Given the description of an element on the screen output the (x, y) to click on. 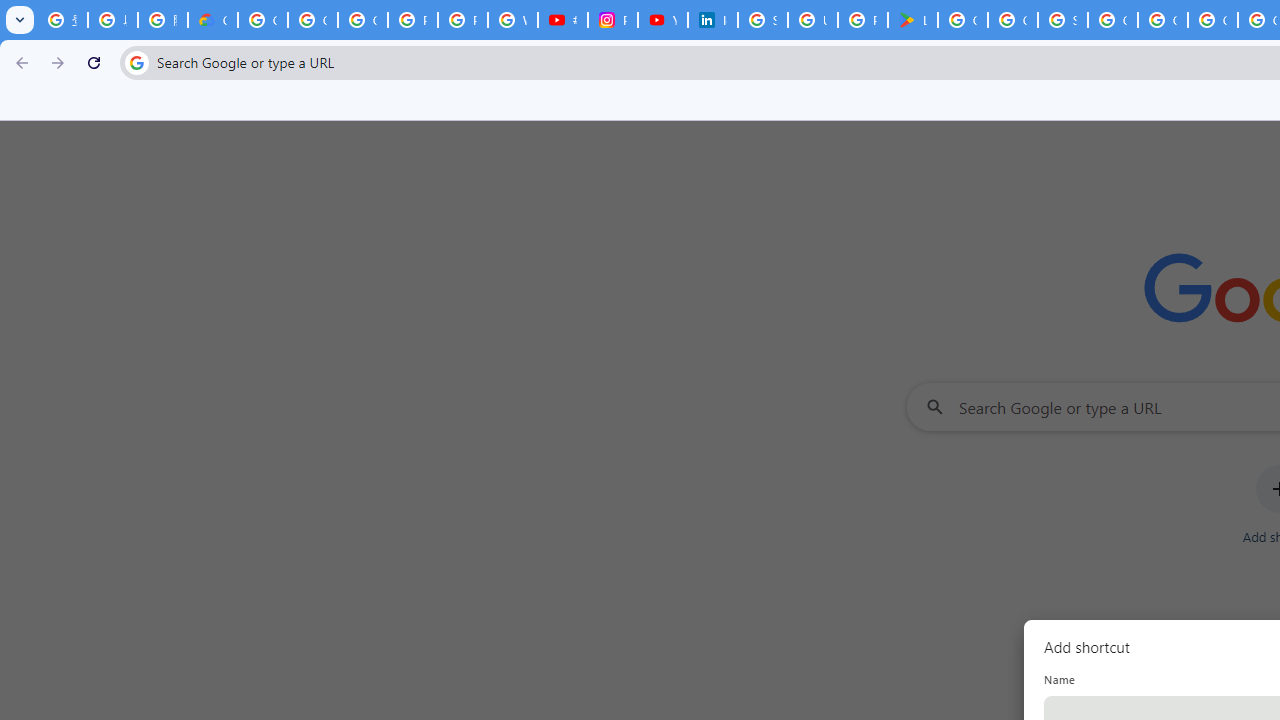
Google Cloud Platform (1162, 20)
YouTube Culture & Trends - On The Rise: Handcam Videos (662, 20)
Privacy Help Center - Policies Help (462, 20)
Sign in - Google Accounts (763, 20)
Last Shelter: Survival - Apps on Google Play (913, 20)
